Given the description of an element on the screen output the (x, y) to click on. 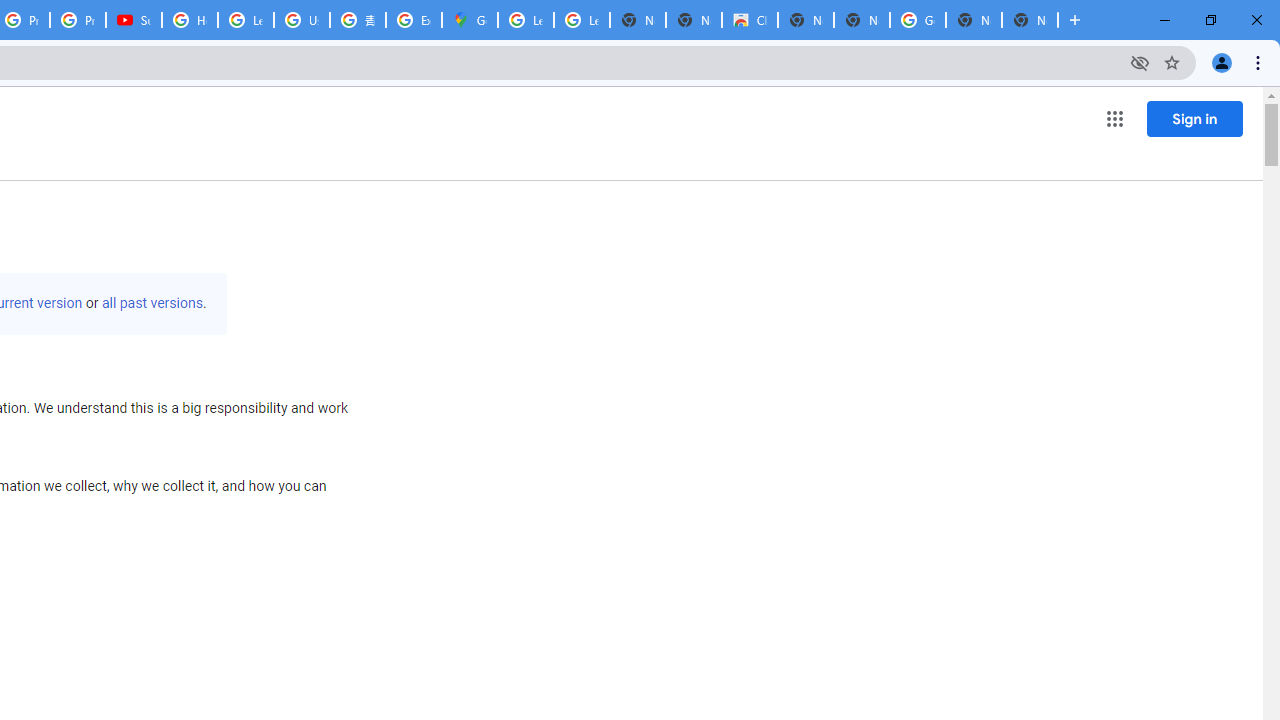
New Tab (1030, 20)
Explore new street-level details - Google Maps Help (413, 20)
Google Maps (469, 20)
